Given the description of an element on the screen output the (x, y) to click on. 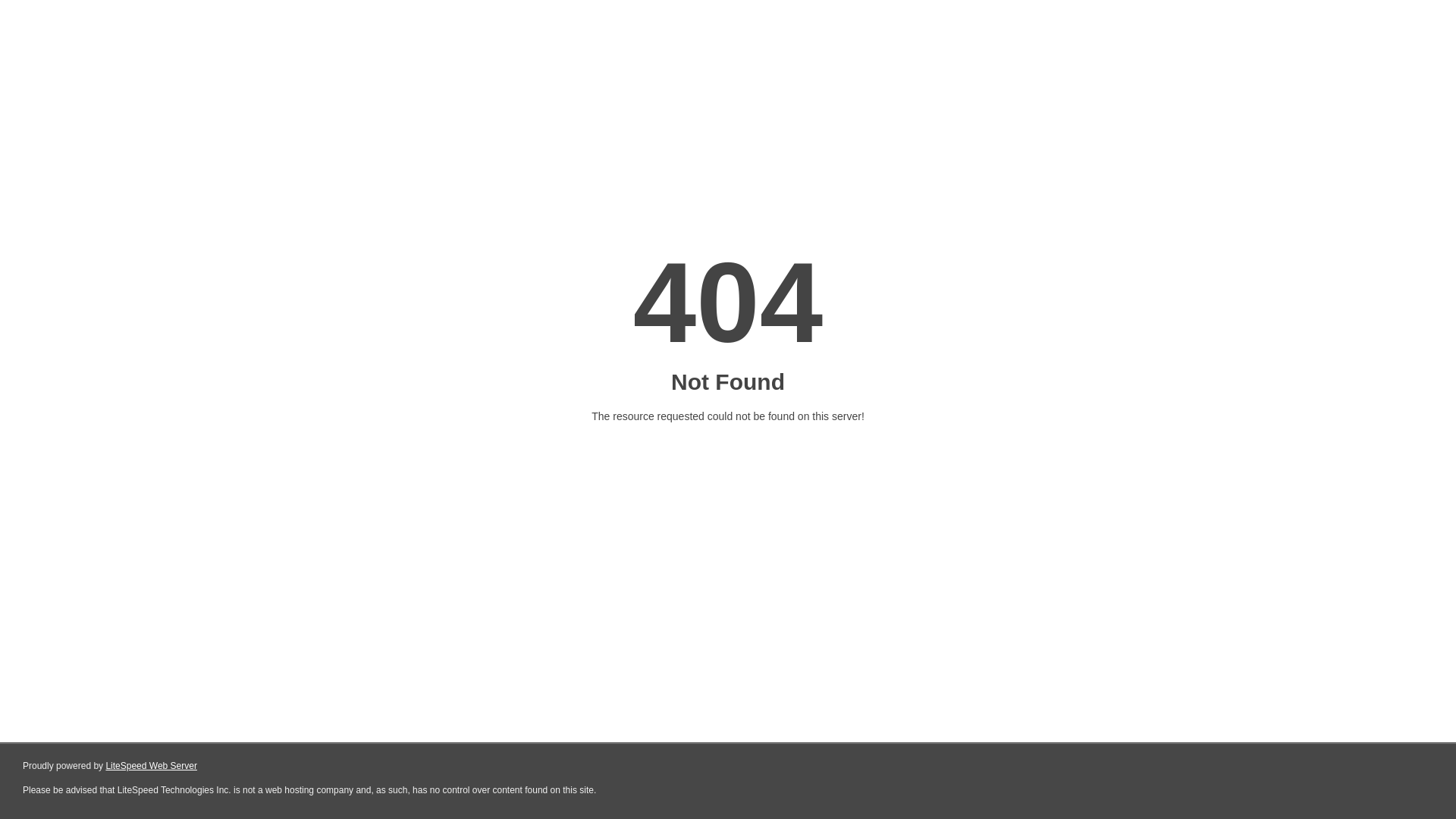
LiteSpeed Web Server Element type: text (151, 765)
